Given the description of an element on the screen output the (x, y) to click on. 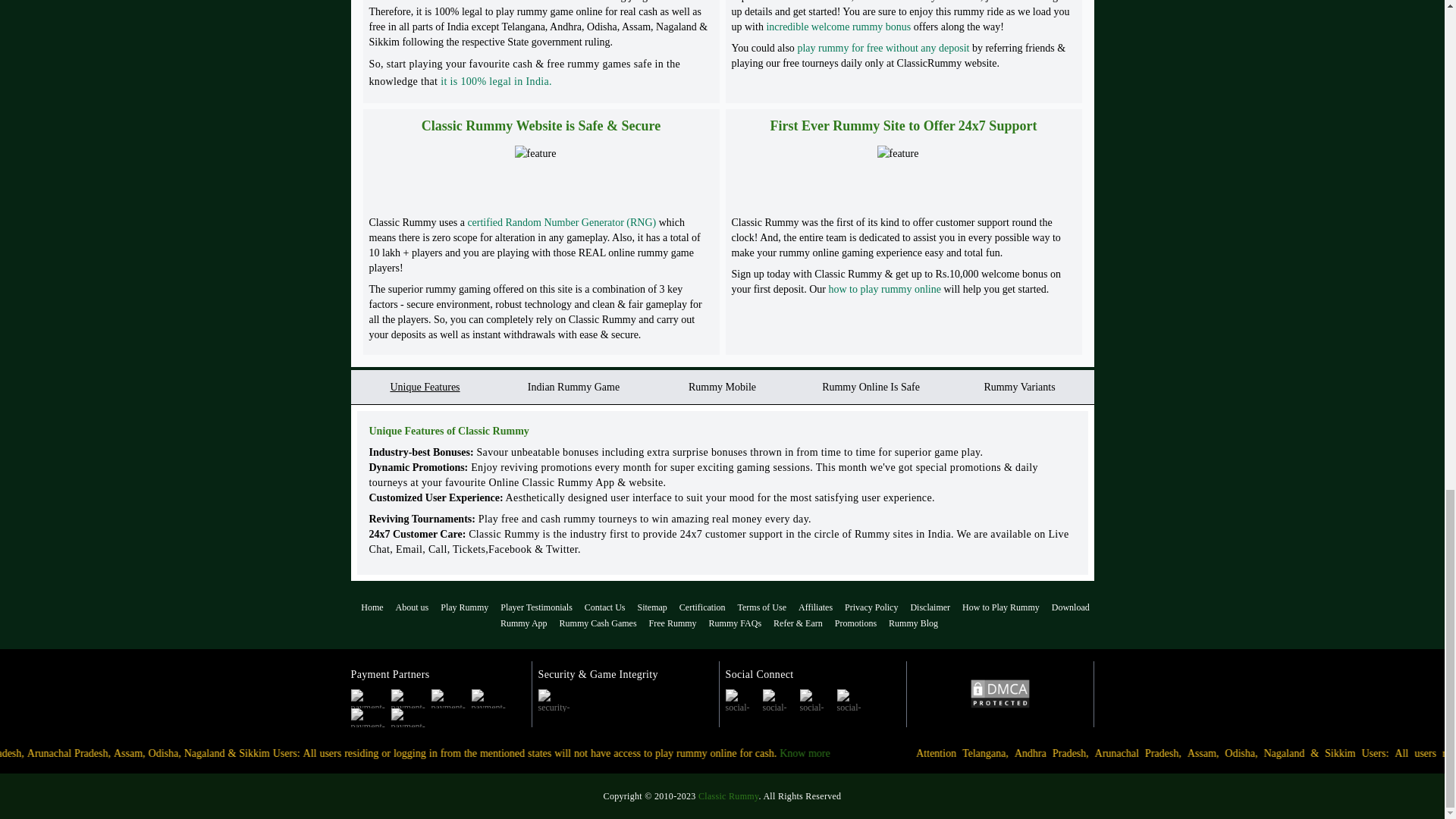
how to play rummy online (884, 288)
Unique Features (424, 385)
Indian Rummy Game (573, 385)
Rummy Variants (1018, 385)
play rummy for free without any deposit (882, 48)
DMCA.com Protection Status (999, 693)
incredible welcome rummy bonus (838, 26)
Rummy Mobile (721, 385)
Rummy Online Is Safe (870, 385)
